Given the description of an element on the screen output the (x, y) to click on. 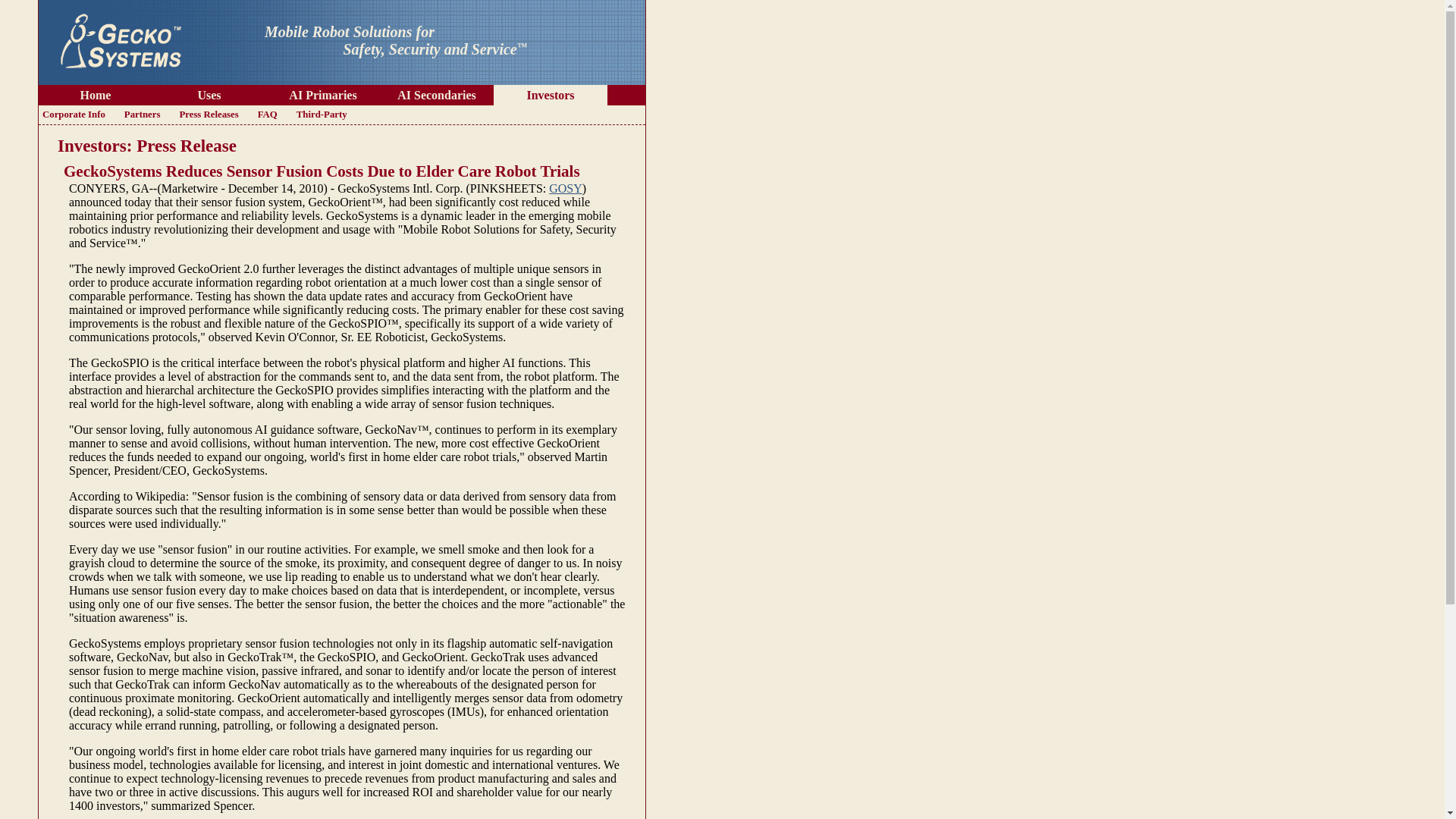
Press Releases (207, 114)
AI Secondaries (436, 94)
Partners (142, 114)
Third-Party (321, 114)
FAQ (267, 114)
Corporate Info (74, 114)
GOSY (565, 187)
AI Primaries (323, 94)
Home (95, 94)
Uses (209, 94)
